Given the description of an element on the screen output the (x, y) to click on. 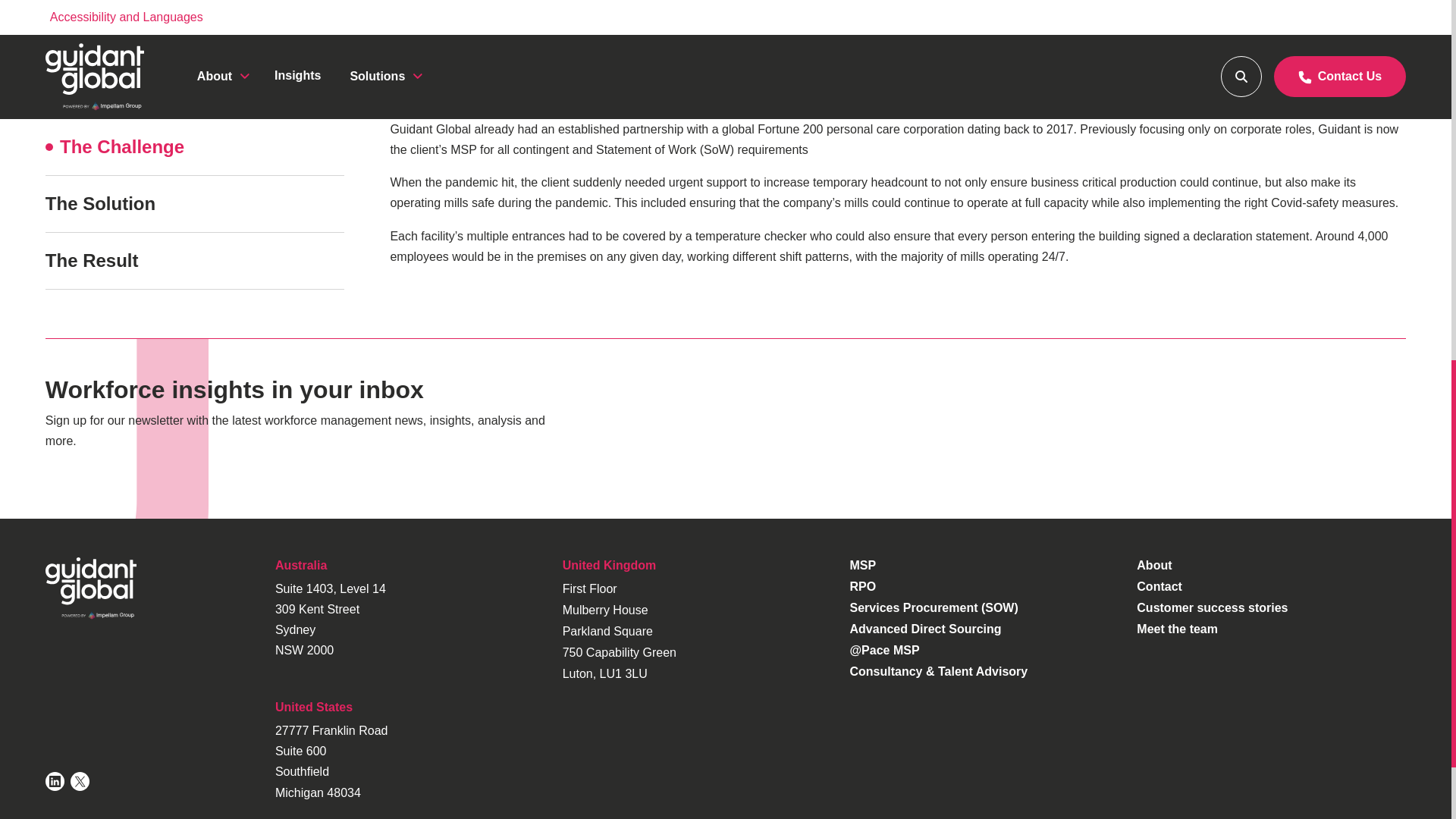
About (1154, 564)
MSP (862, 564)
Customer success stories (1212, 607)
RPO (862, 585)
Contact (1159, 585)
Advanced Direct Sourcing (924, 628)
Meet the team (1177, 628)
